Given the description of an element on the screen output the (x, y) to click on. 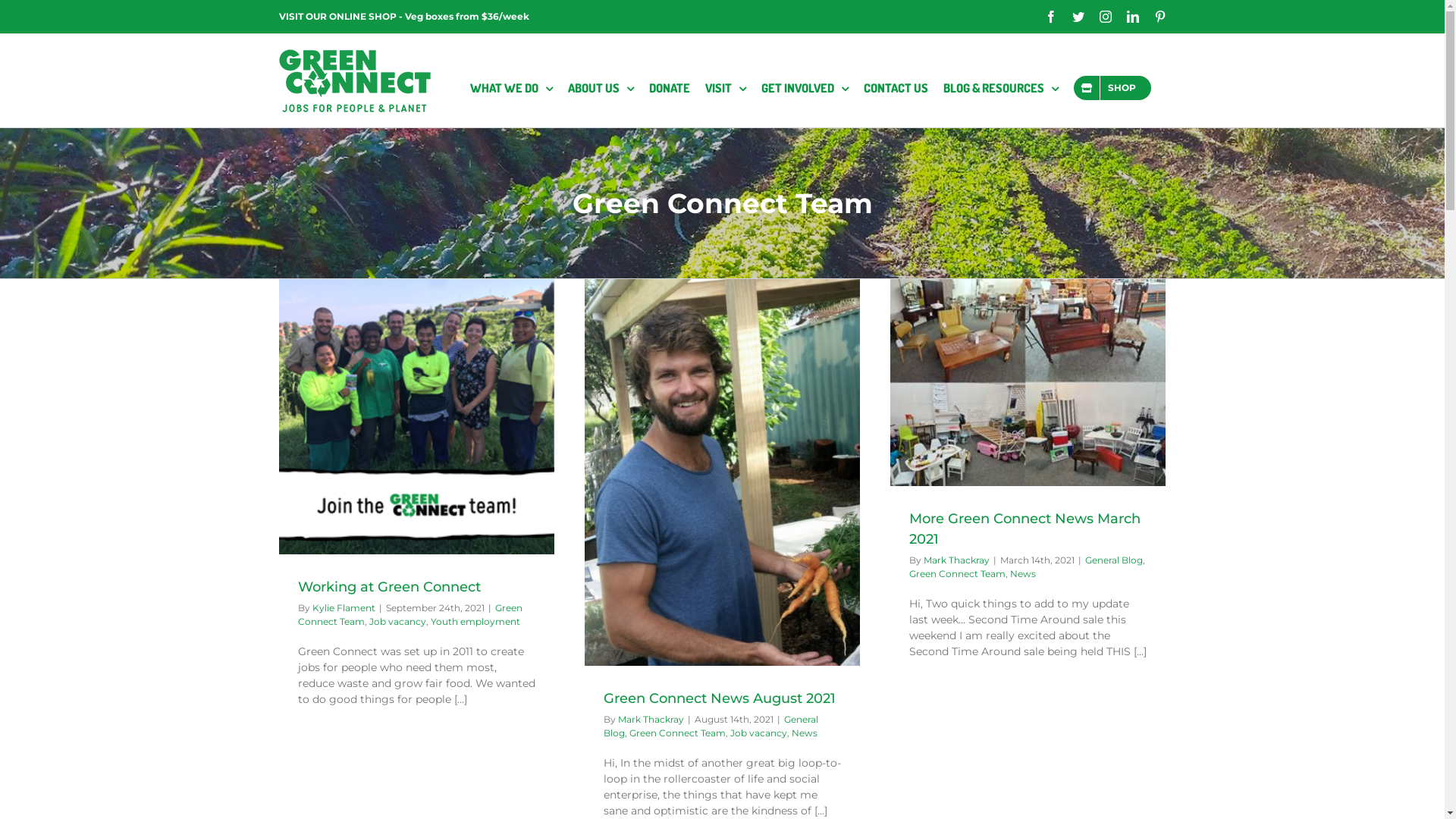
Facebook Element type: text (1050, 16)
Twitter Element type: text (1078, 16)
Mark Thackray Element type: text (650, 718)
Job vacancy Element type: text (396, 621)
General Blog Element type: text (1113, 559)
Green Connect Team Element type: text (409, 614)
LinkedIn Element type: text (1132, 16)
General Blog Element type: text (710, 725)
WHAT WE DO Element type: text (511, 87)
GET INVOLVED Element type: text (804, 87)
Instagram Element type: text (1105, 16)
Job vacancy Element type: text (757, 732)
More Green Connect News March 2021 Element type: text (1023, 528)
Working at Green Connect Element type: text (388, 586)
Green Connect Team Element type: text (677, 732)
Green Connect News August 2021 Element type: text (719, 698)
Mark Thackray Element type: text (956, 559)
BLOG & RESOURCES Element type: text (1000, 87)
Youth employment Element type: text (475, 621)
ABOUT US Element type: text (600, 87)
SHOP Element type: text (1112, 87)
CONTACT US Element type: text (894, 87)
DONATE Element type: text (669, 87)
News Element type: text (804, 732)
VISIT Element type: text (725, 87)
VISIT OUR ONLINE SHOP - Veg boxes from $36/week Element type: text (404, 15)
News Element type: text (1022, 573)
Green Connect Team Element type: text (956, 573)
Pinterest Element type: text (1160, 16)
Kylie Flament Element type: text (343, 607)
